Given the description of an element on the screen output the (x, y) to click on. 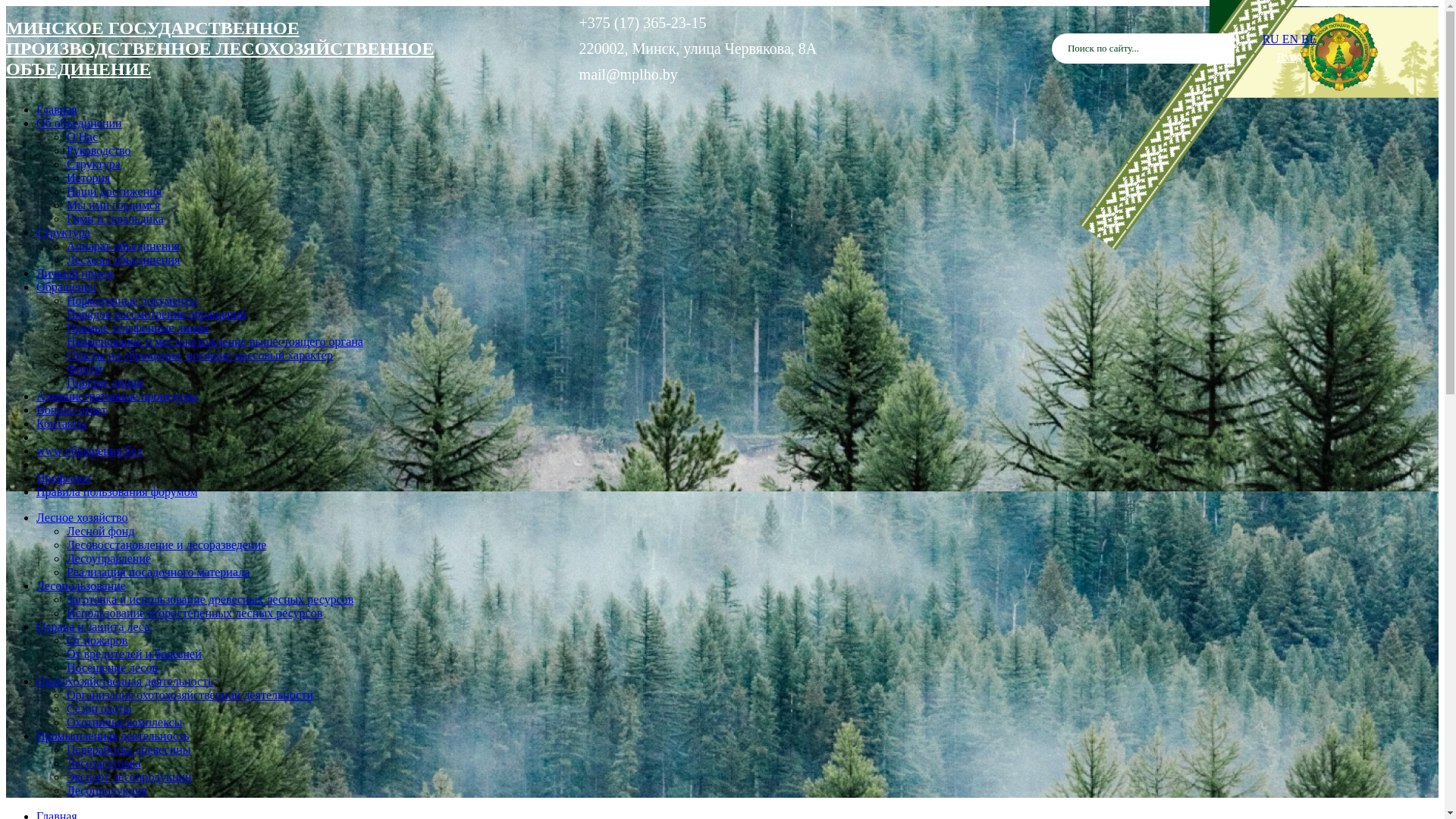
+375 (17) 365-23-15 Element type: text (646, 22)
RU Element type: text (1271, 38)
mail@mplho.by Element type: text (632, 74)
EN Element type: text (1291, 38)
BE Element type: text (1308, 38)
